Given the description of an element on the screen output the (x, y) to click on. 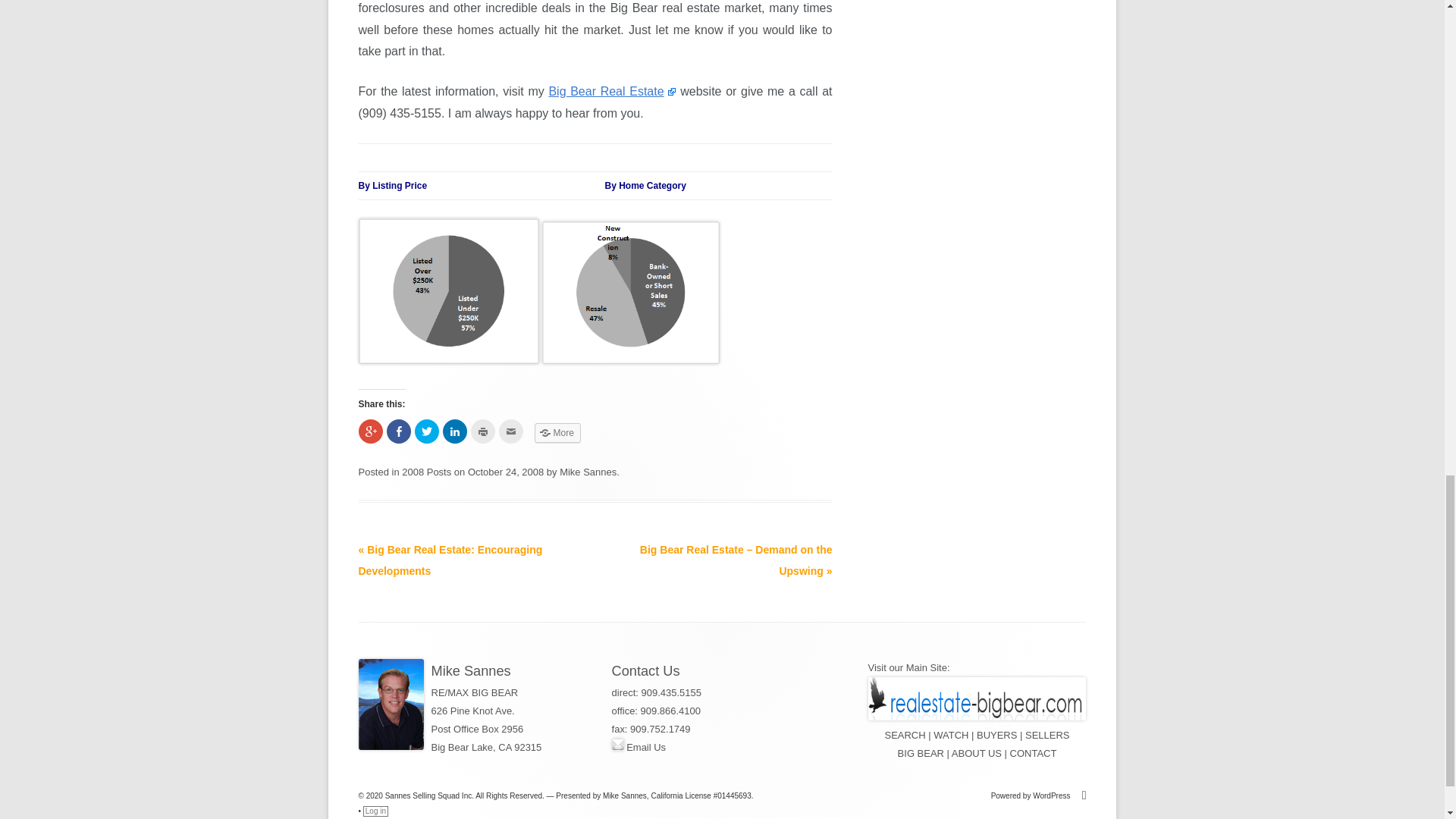
Click to share on Twitter (425, 431)
Mike Sannes (587, 471)
More (556, 433)
October 24, 2008 (505, 471)
Click to share on LinkedIn (454, 431)
Share on Facebook (398, 431)
Click to print (482, 431)
Big Bear Real Estate (611, 91)
Click to email this to a friend (510, 431)
2008 Posts (426, 471)
